Given the description of an element on the screen output the (x, y) to click on. 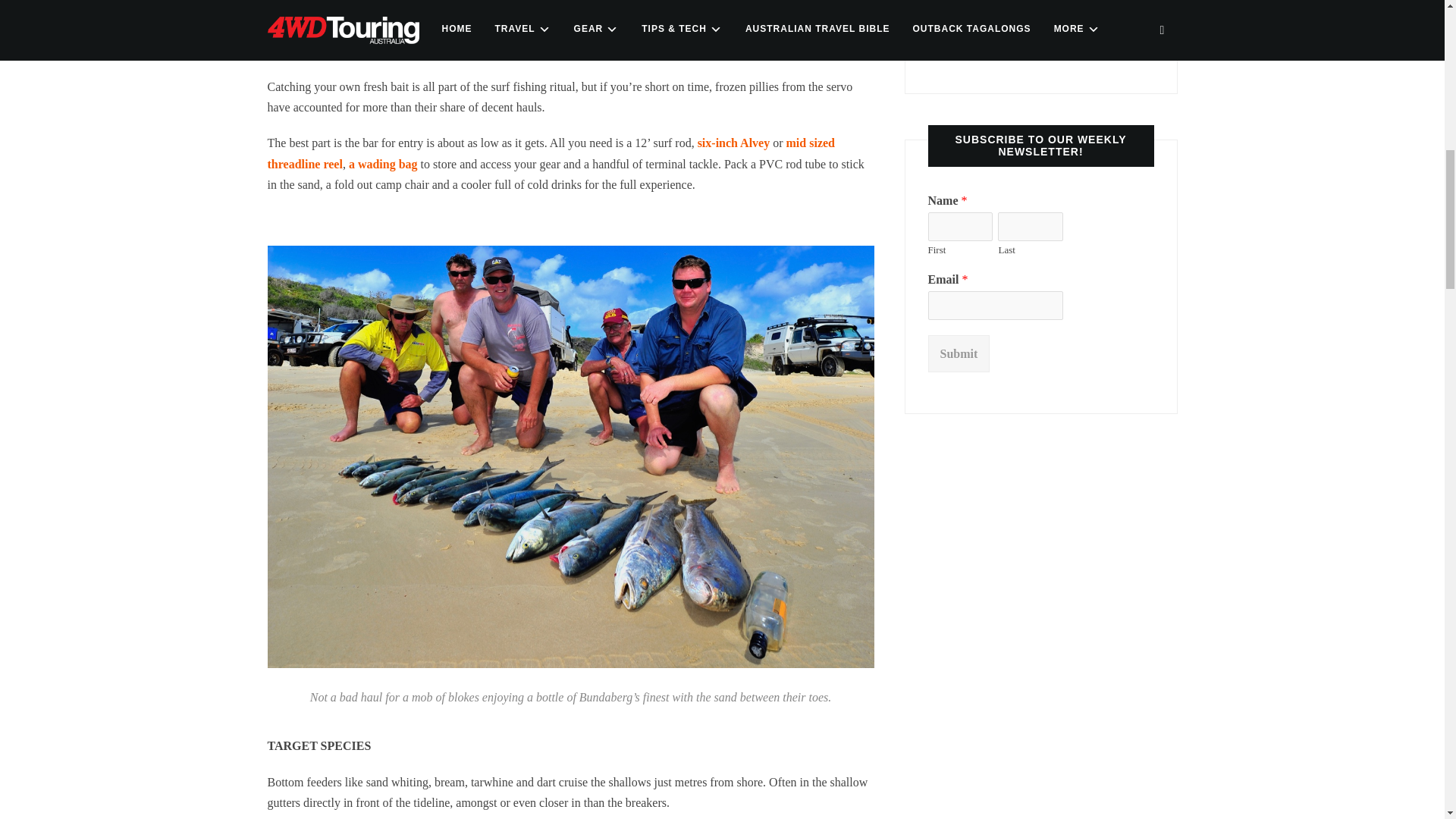
Friend me on Facebook (969, 48)
